Given the description of an element on the screen output the (x, y) to click on. 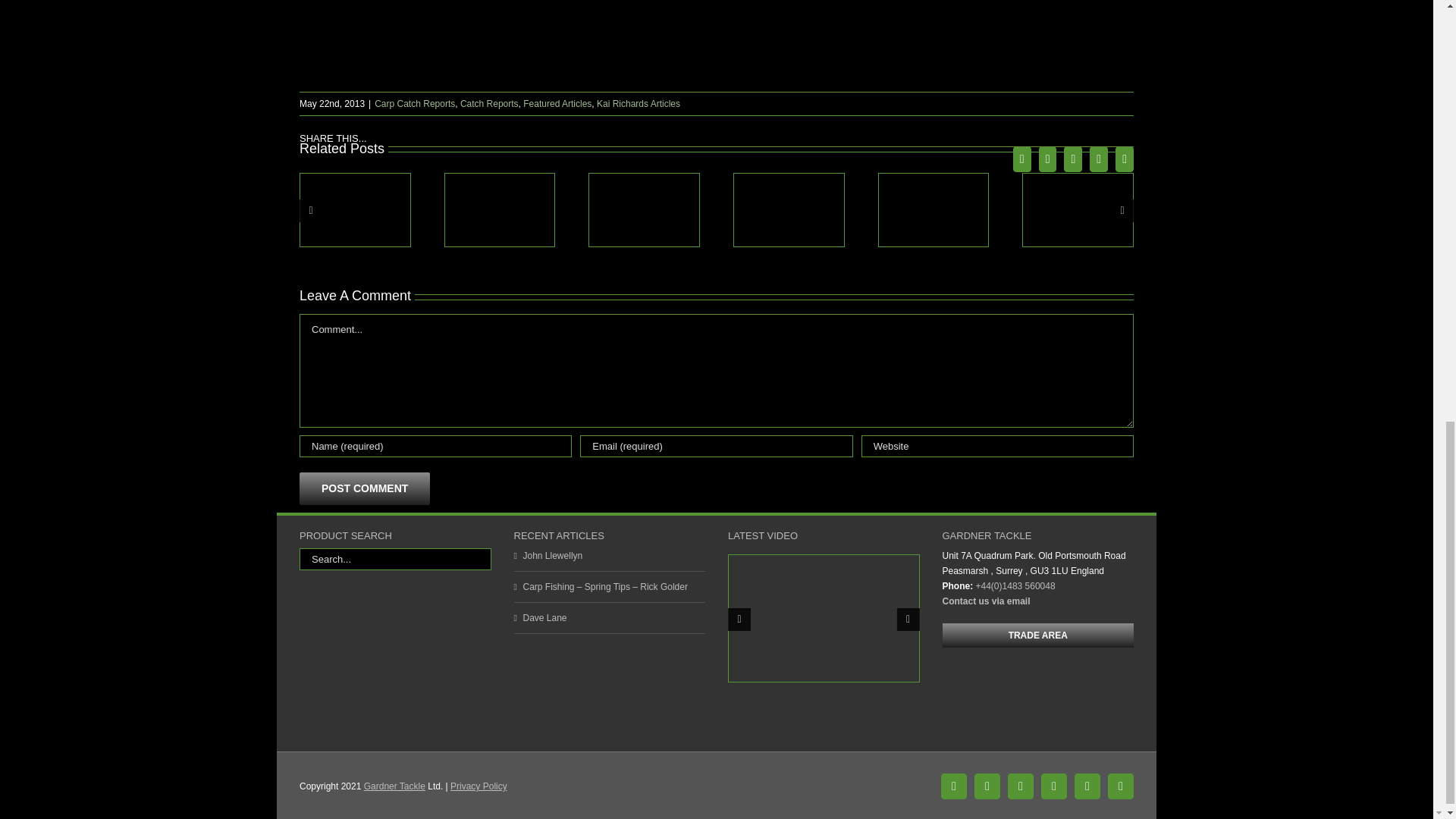
Pinterest (1098, 158)
Instagram (1087, 786)
X (1048, 158)
X (987, 786)
Reddit (1072, 158)
Vimeo (1054, 786)
YouTube (1020, 786)
Facebook (1021, 158)
Post Comment (364, 488)
trade area footer button (1038, 635)
Facebook (953, 786)
Email (1124, 158)
